Given the description of an element on the screen output the (x, y) to click on. 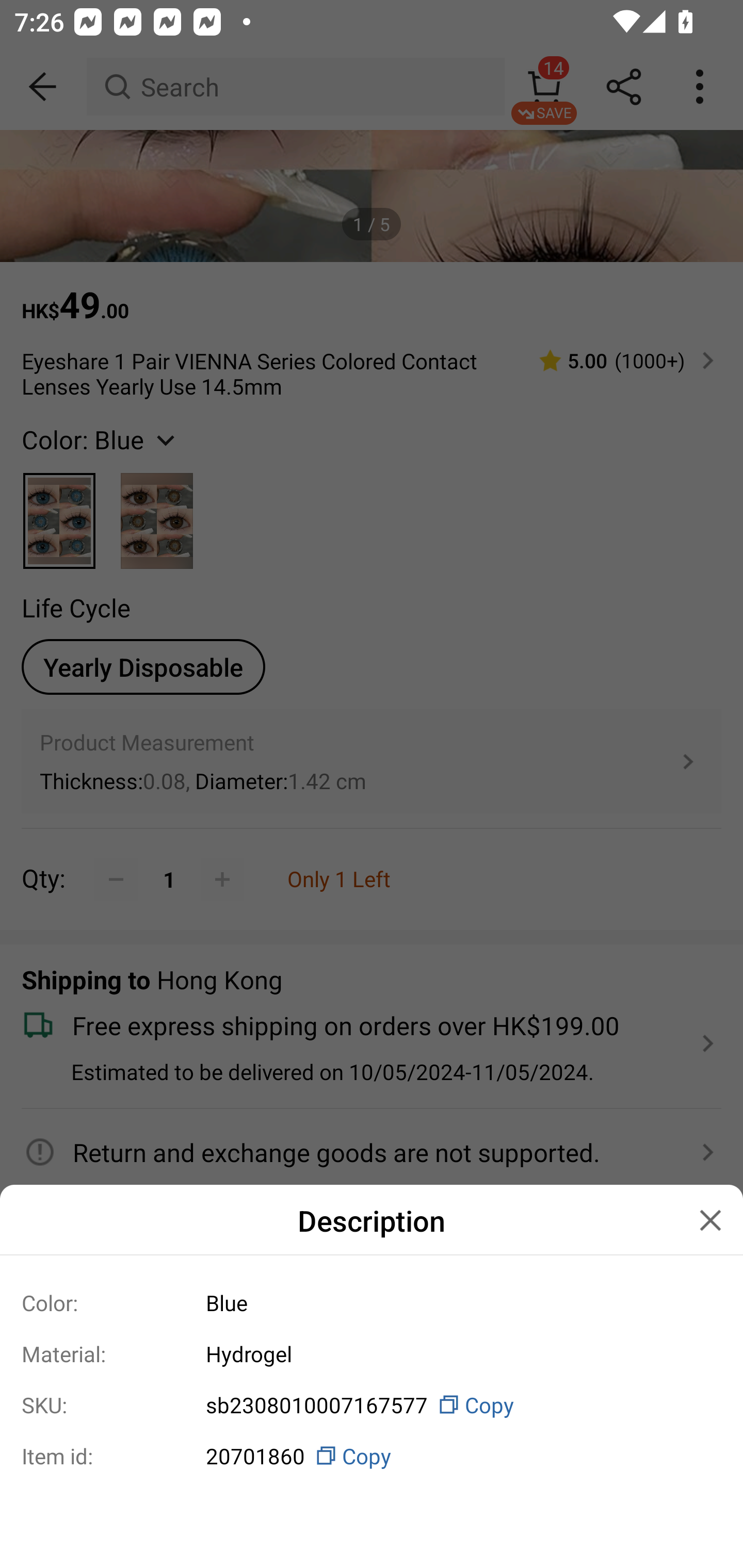
Close (710, 1220)
Color: Blue (371, 1302)
Blue (455, 1302)
Material: Hydrogel (371, 1353)
Hydrogel (455, 1353)
SKU: sb2308010007167577    Copy (371, 1404)
sb2308010007167577    Copy (455, 1404)
Item id: 20701860    Copy (371, 1455)
20701860    Copy (455, 1455)
